Given the description of an element on the screen output the (x, y) to click on. 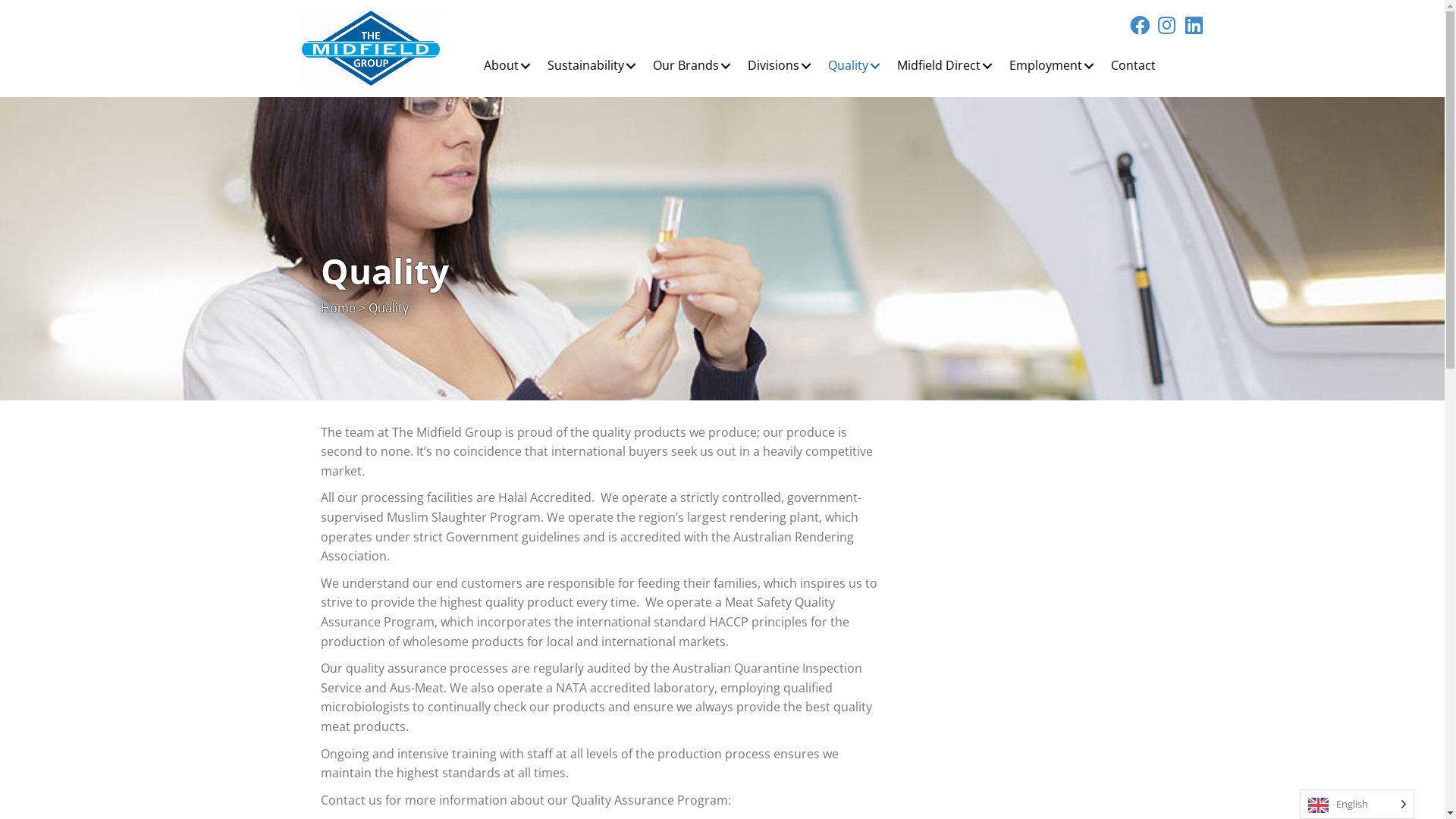
Facebook Element type: hover (1139, 24)
Employment Element type: text (1053, 65)
Midfield Logo B Element type: hover (370, 47)
LinkedIn Element type: hover (1194, 24)
Sustainability Element type: text (593, 65)
Quality Element type: text (856, 65)
Instagram Element type: hover (1166, 24)
Home Element type: text (337, 307)
About Element type: text (509, 65)
Contact Element type: text (1132, 65)
Midfield Direct Element type: text (947, 65)
Our Brands Element type: text (693, 65)
Divisions Element type: text (781, 65)
